Given the description of an element on the screen output the (x, y) to click on. 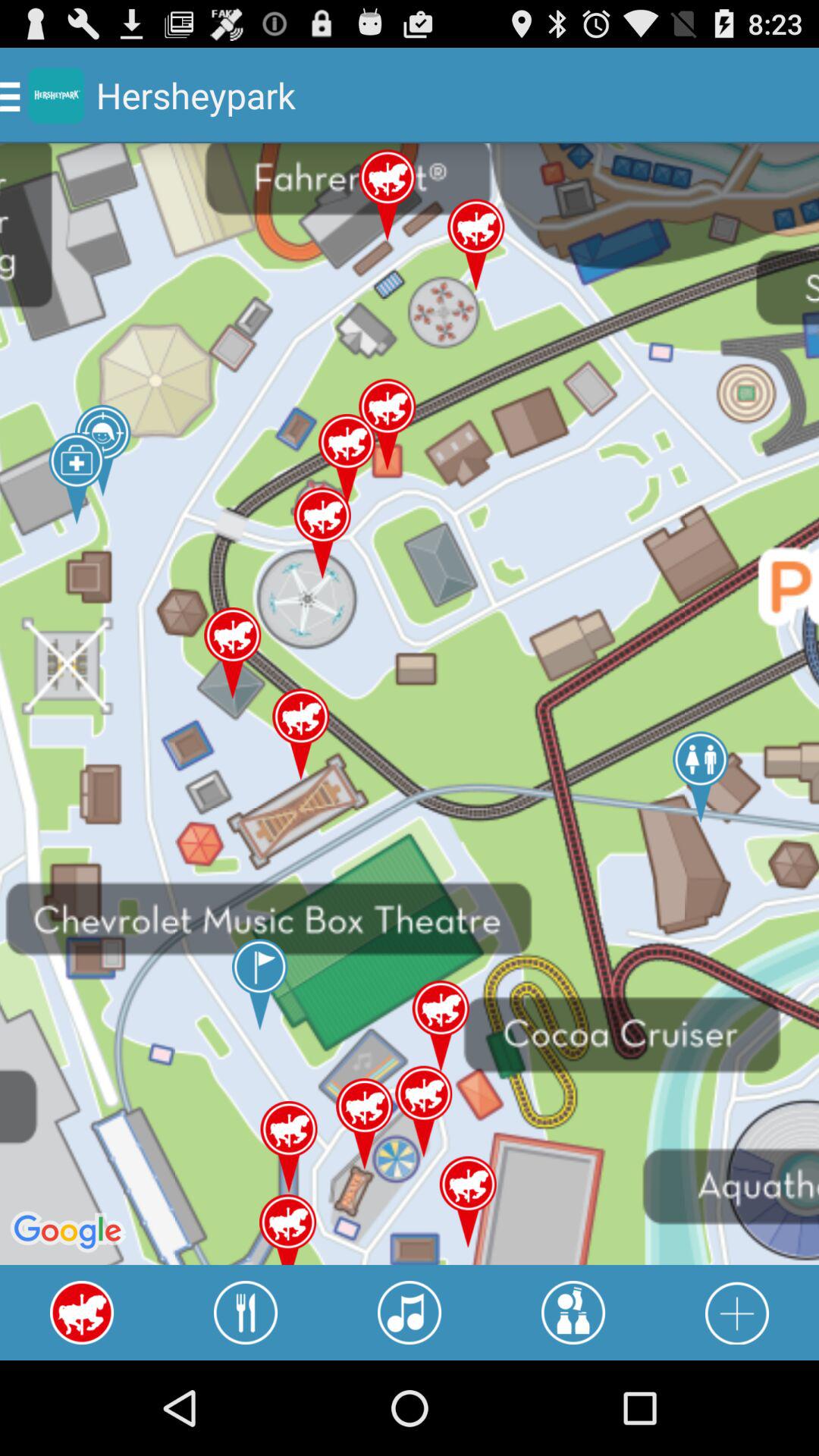
press to add additional (737, 1312)
